Given the description of an element on the screen output the (x, y) to click on. 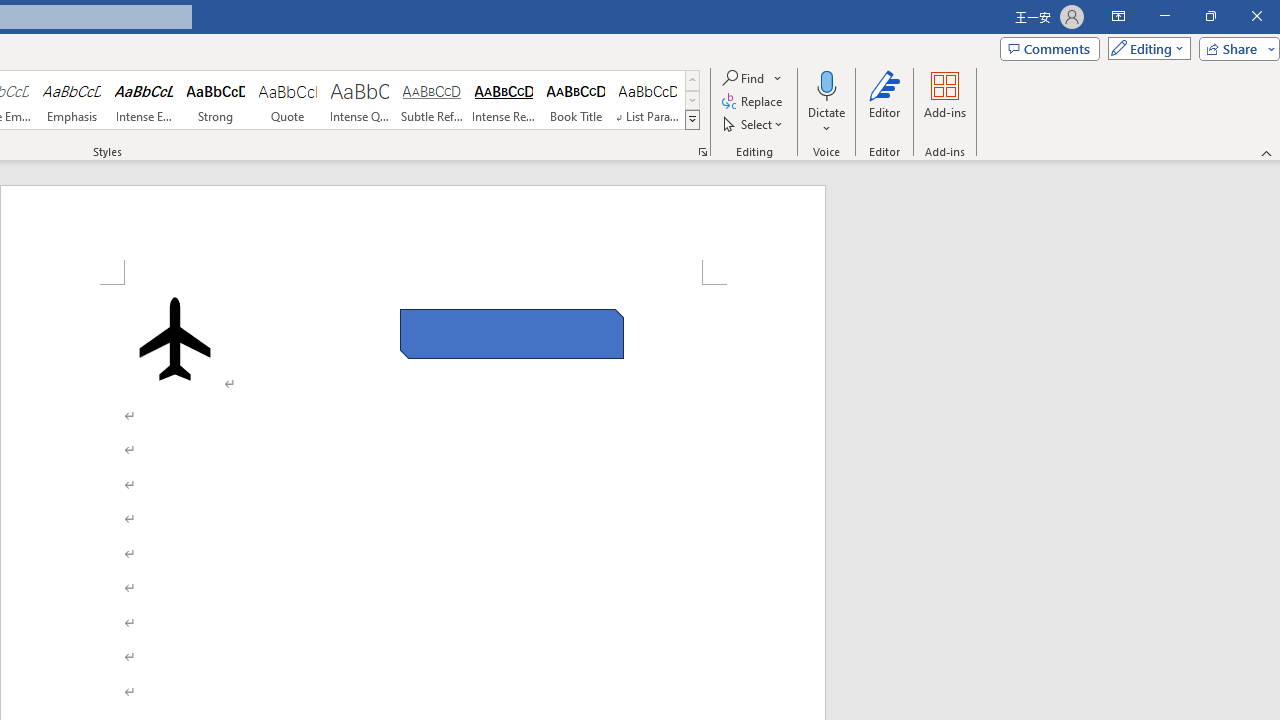
Rectangle: Diagonal Corners Snipped 2 (511, 333)
Strong (216, 100)
Quote (287, 100)
Ribbon Display Options (1118, 16)
Emphasis (71, 100)
Find (753, 78)
Styles... (702, 151)
Editing (1144, 47)
Airplane with solid fill (175, 338)
Intense Emphasis (143, 100)
Comments (1049, 48)
Find (744, 78)
Replace... (753, 101)
Row up (692, 79)
Collapse the Ribbon (1267, 152)
